Given the description of an element on the screen output the (x, y) to click on. 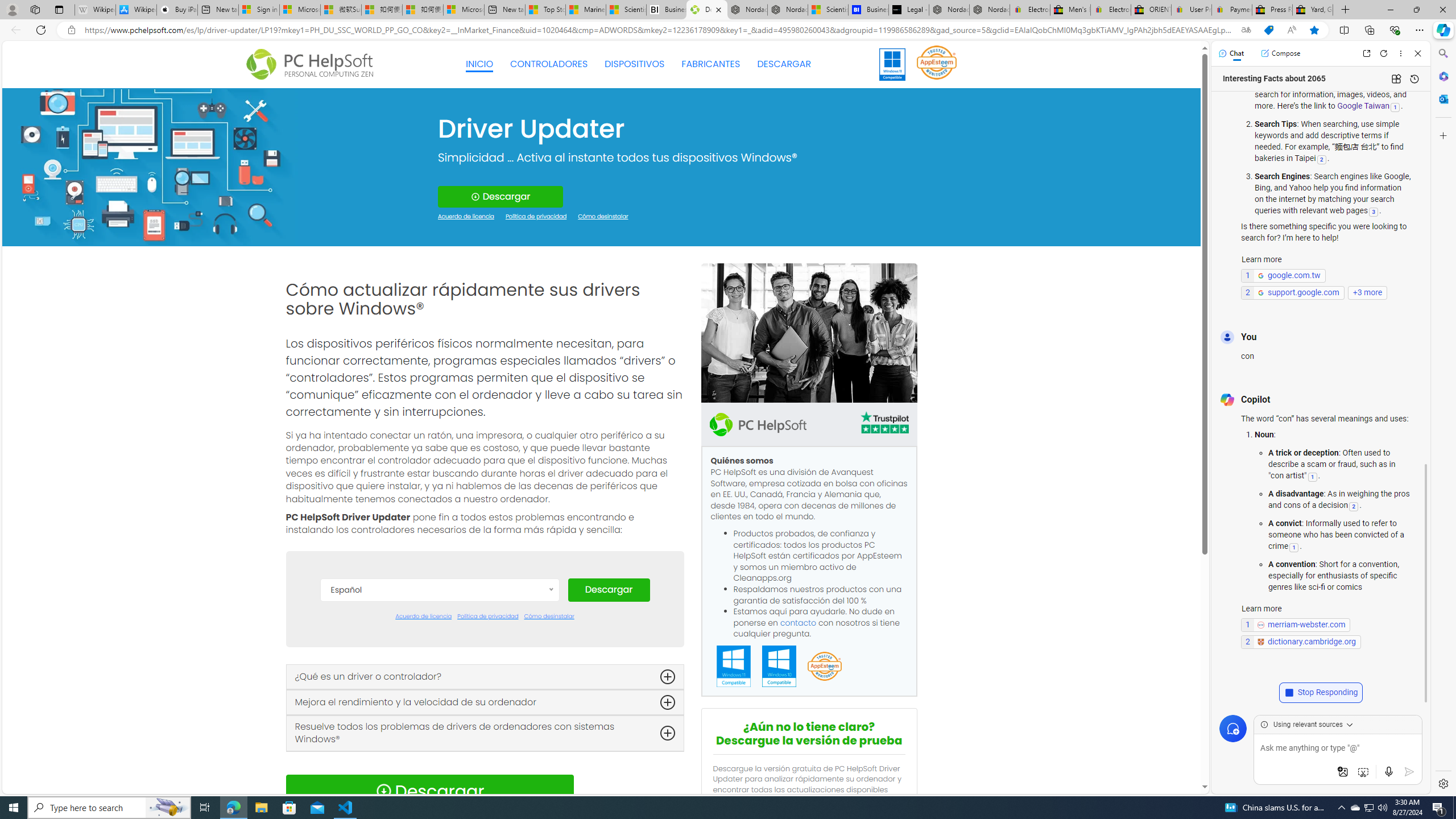
User Privacy Notice | eBay (1191, 9)
Norsk (439, 780)
DESCARGAR (783, 64)
Customize (1442, 135)
TrustPilot (884, 424)
Yard, Garden & Outdoor Living (1312, 9)
Shopping in Microsoft Edge (1268, 29)
App Esteem (823, 666)
More options (1401, 53)
